Given the description of an element on the screen output the (x, y) to click on. 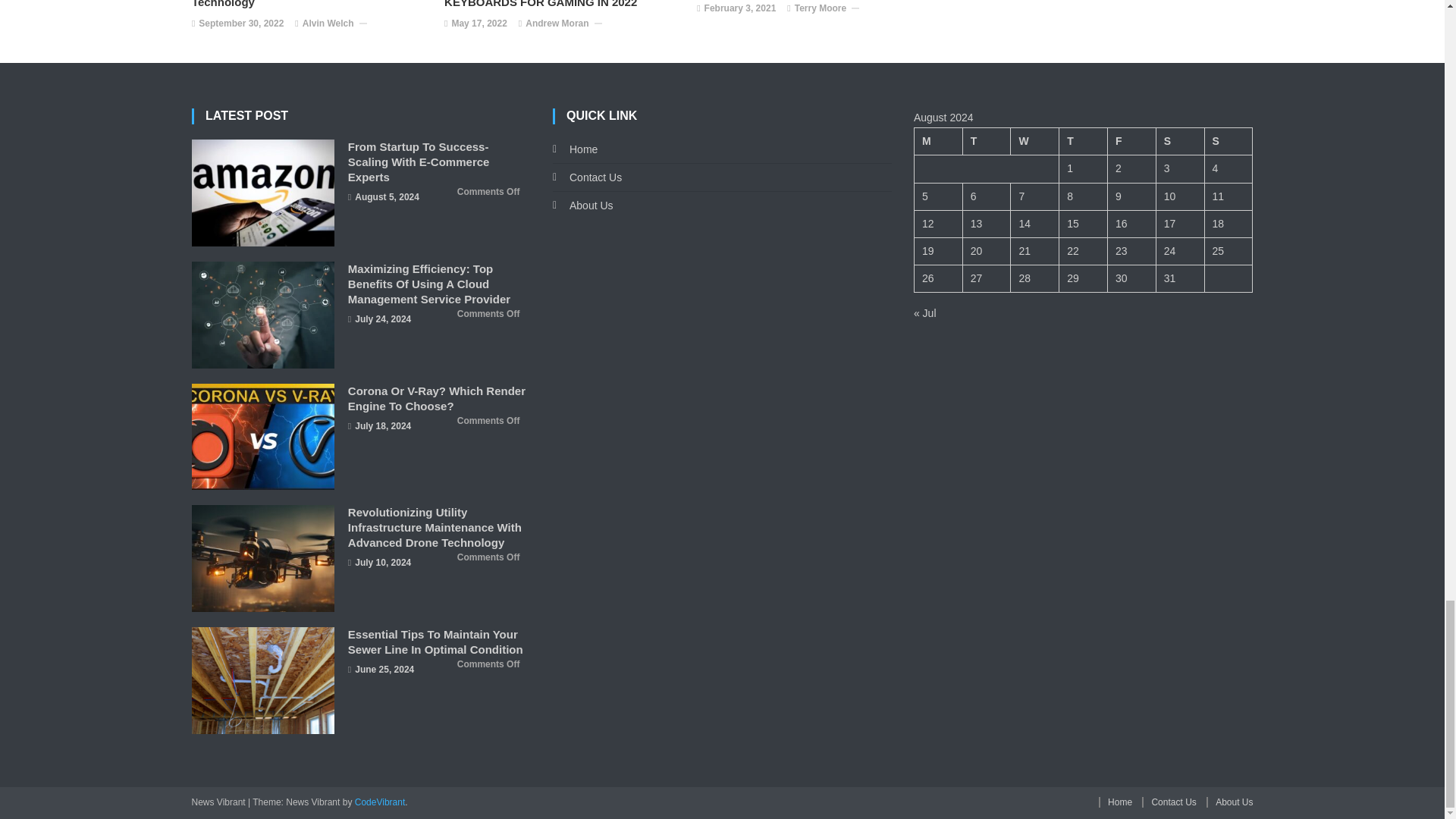
Sunday (1228, 141)
Tuesday (986, 141)
Wednesday (1034, 141)
May 17, 2022 (478, 23)
September 30, 2022 (240, 23)
February 3, 2021 (740, 8)
Terry Moore (819, 8)
Enhanced Disability Accessibility Of Technology (310, 4)
Monday (938, 141)
Friday (1131, 141)
